Given the description of an element on the screen output the (x, y) to click on. 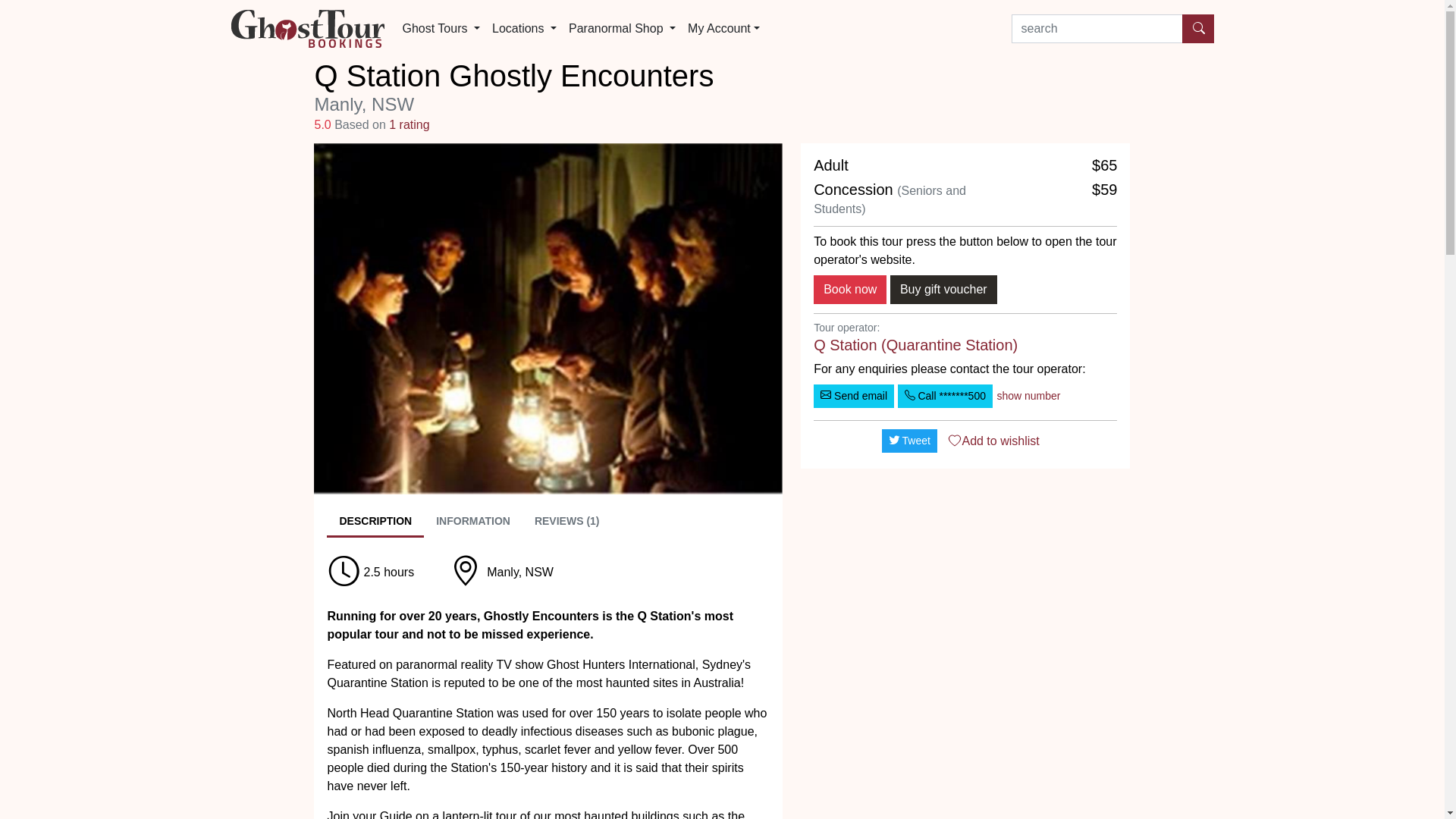
REVIEWS (1) Element type: text (566, 522)
Tweet Element type: text (909, 440)
1 rating Element type: text (409, 124)
My Account Element type: text (723, 28)
Advertisement Element type: hover (964, 586)
Send email Element type: text (853, 395)
Locations Element type: text (524, 28)
Paranormal Shop Element type: text (621, 28)
Ghost Tours Element type: text (440, 28)
Buy gift voucher Element type: text (943, 289)
Q Station (Quarantine Station) Element type: text (915, 344)
DESCRIPTION Element type: text (374, 522)
Call *******500 Element type: text (944, 395)
INFORMATION Element type: text (472, 522)
Book now Element type: text (849, 289)
Add to wishlist Element type: text (993, 440)
show number Element type: text (1027, 395)
